Given the description of an element on the screen output the (x, y) to click on. 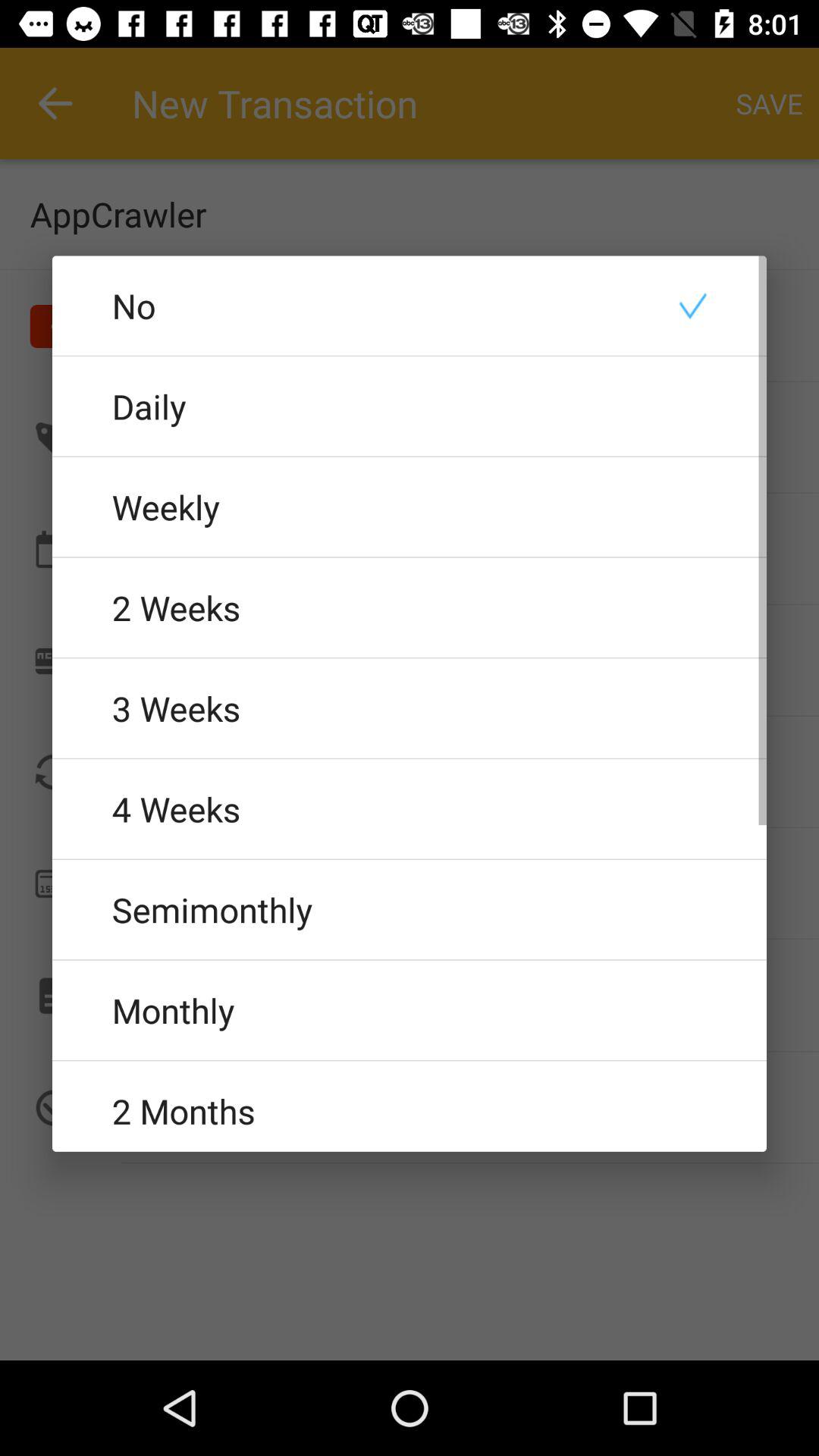
turn on 3 weeks item (409, 708)
